Given the description of an element on the screen output the (x, y) to click on. 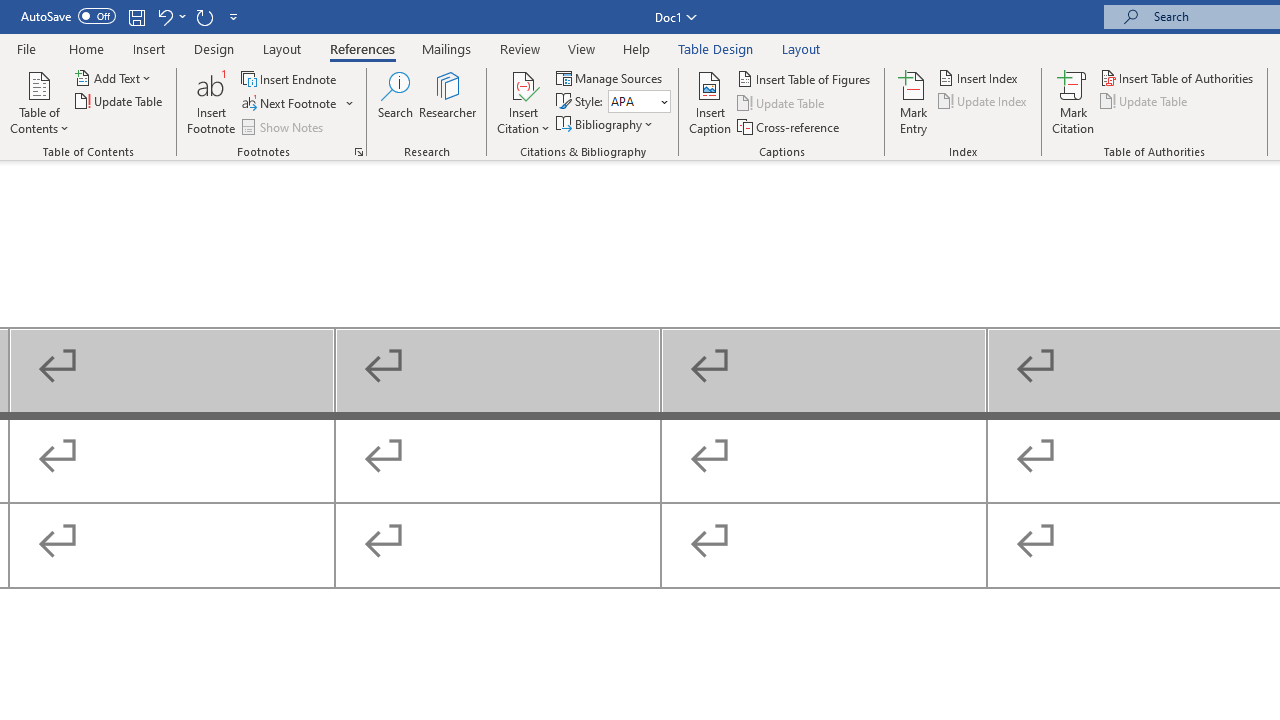
Style (632, 101)
Undo Outline Move Up (170, 15)
Mark Entry... (913, 102)
Table Design (715, 48)
Researcher (447, 102)
Insert Citation (523, 102)
Insert Footnote (211, 102)
Next Footnote (290, 103)
Add Text (114, 78)
Insert Endnote (290, 78)
